Given the description of an element on the screen output the (x, y) to click on. 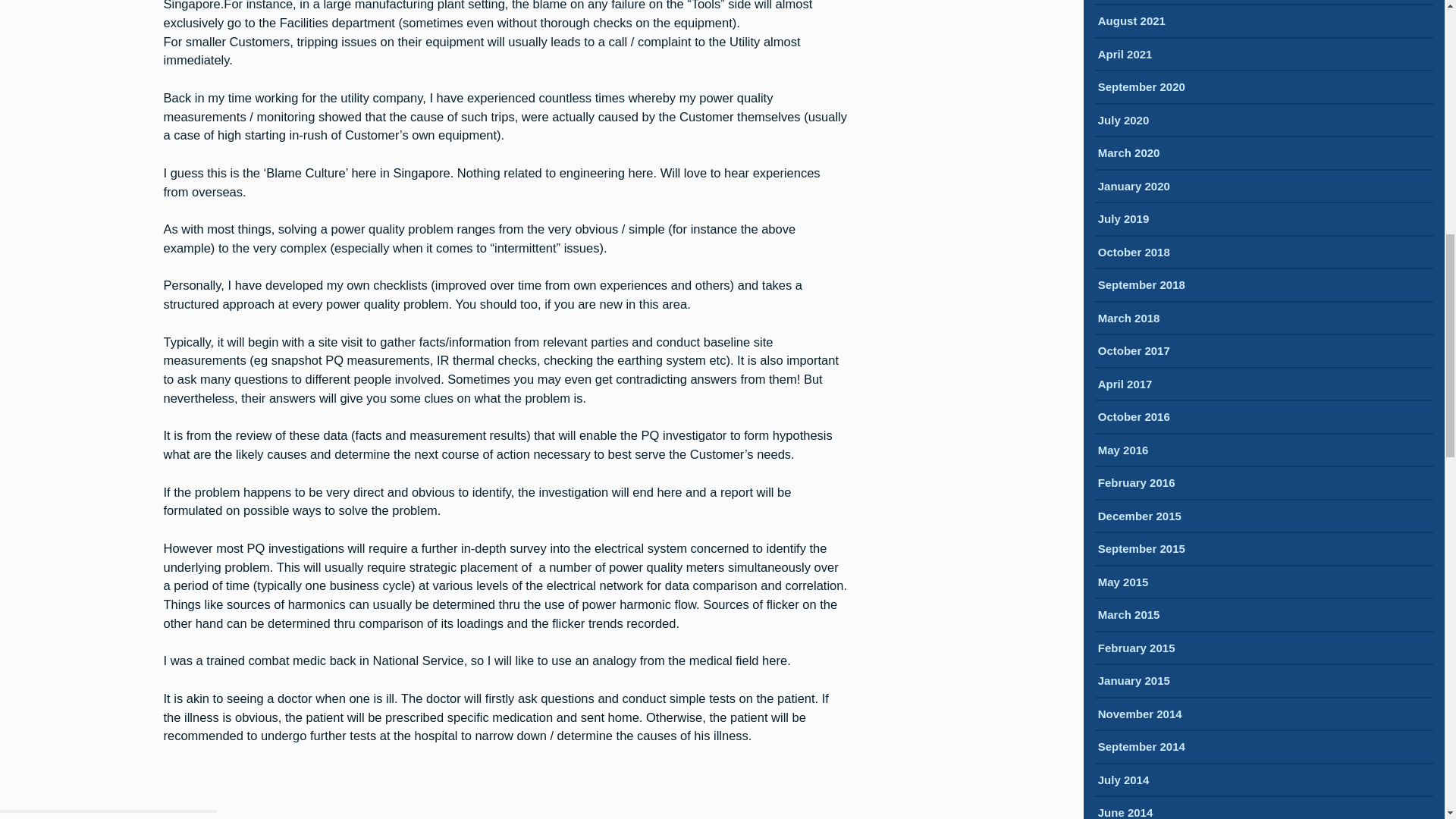
April 2021 (1125, 55)
September 2020 (1141, 88)
January 2020 (1133, 187)
September 2018 (1141, 286)
March 2020 (1128, 154)
July 2019 (1123, 220)
October 2018 (1133, 253)
August 2021 (1131, 22)
July 2020 (1123, 121)
